Given the description of an element on the screen output the (x, y) to click on. 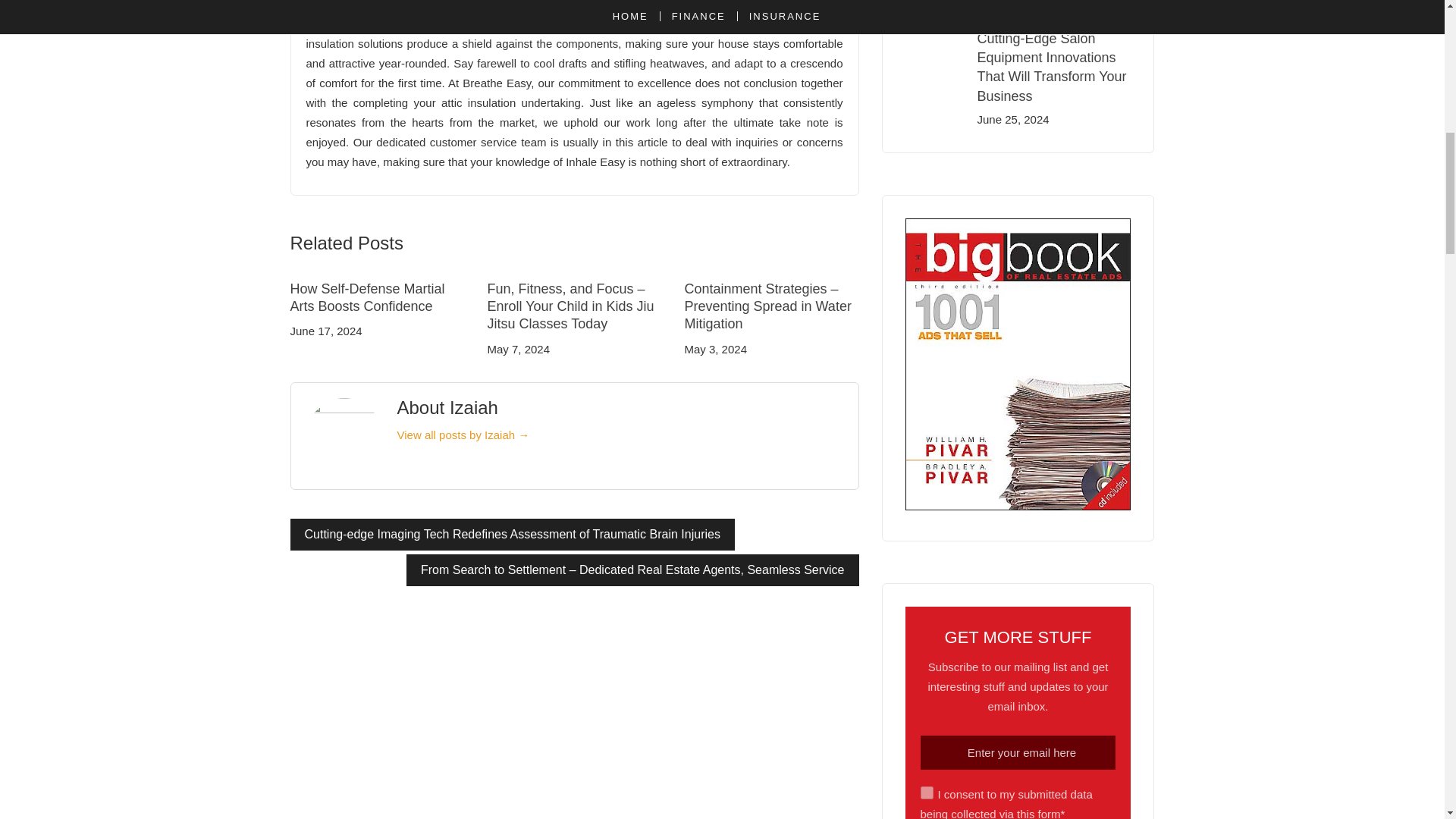
How Self-Defense Martial Arts Boosts Confidence (366, 297)
on (926, 792)
Enter your email here (1018, 752)
